Given the description of an element on the screen output the (x, y) to click on. 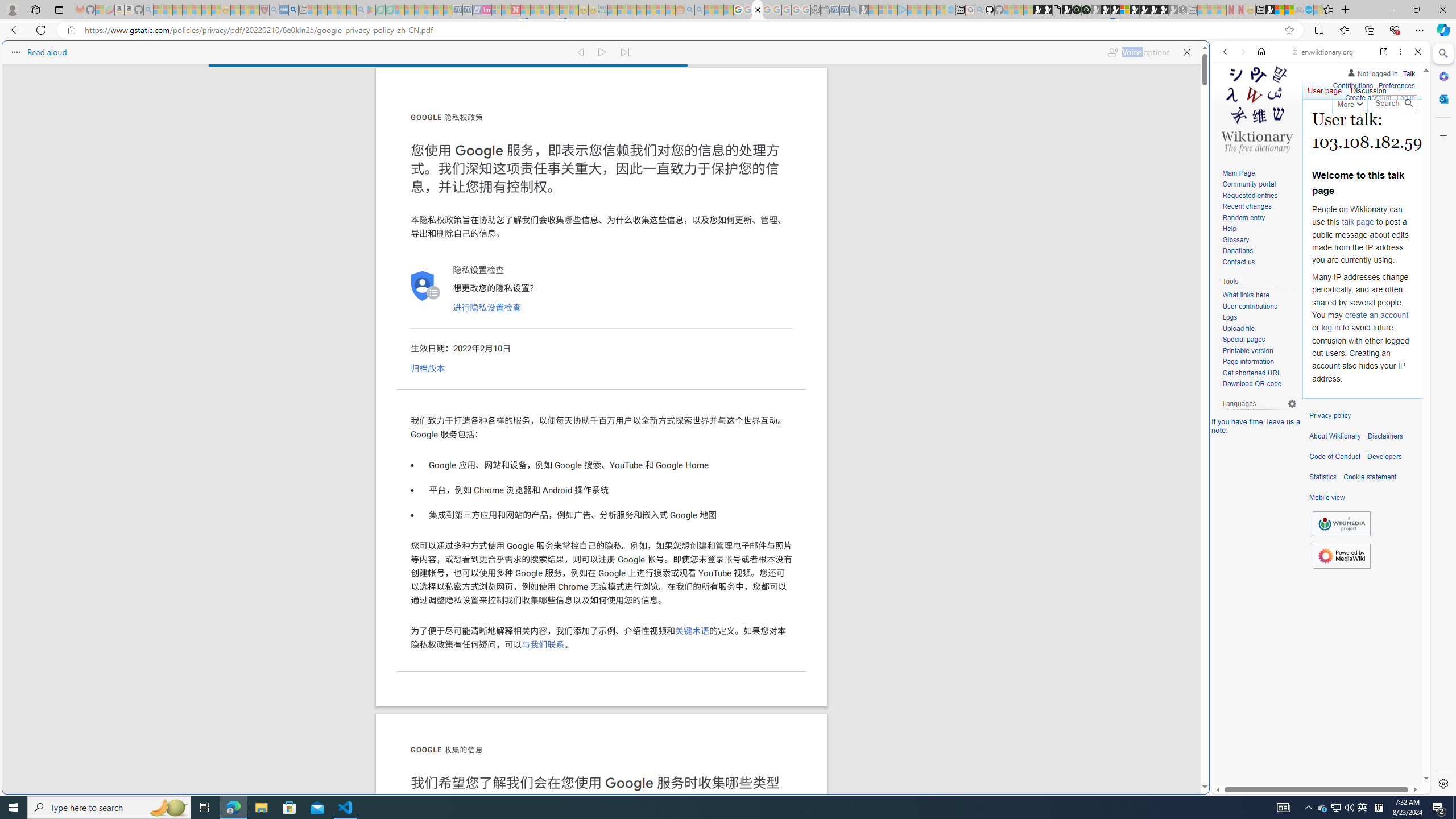
Cookie statement (1369, 477)
Search or enter web address (922, 108)
Go (1408, 102)
Search Wiktionary (1393, 103)
Future Focus Report 2024 (1085, 9)
